Given the description of an element on the screen output the (x, y) to click on. 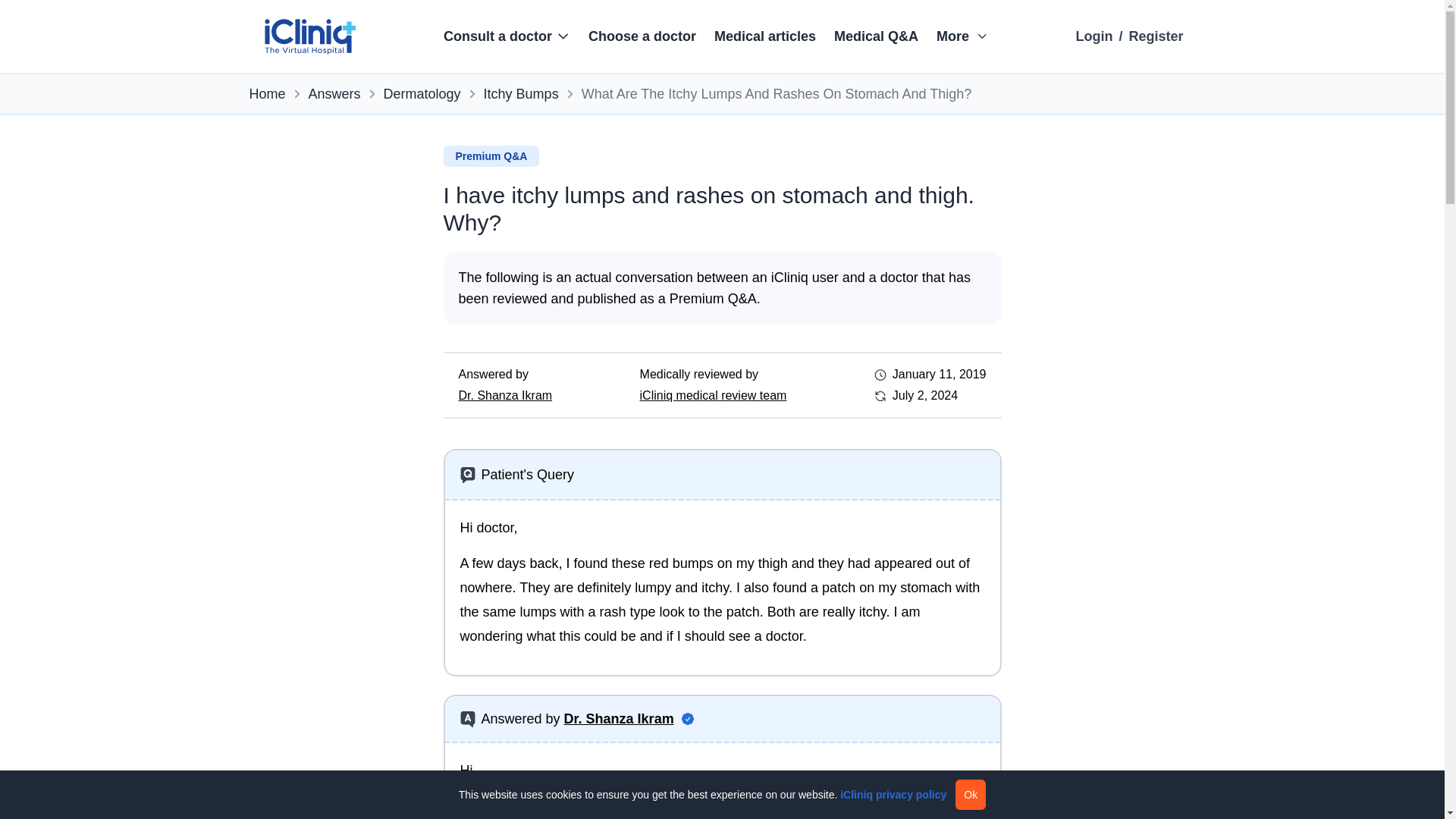
Login (1093, 36)
Register (1155, 36)
Choose a doctor (641, 36)
Medical articles (764, 36)
